Given the description of an element on the screen output the (x, y) to click on. 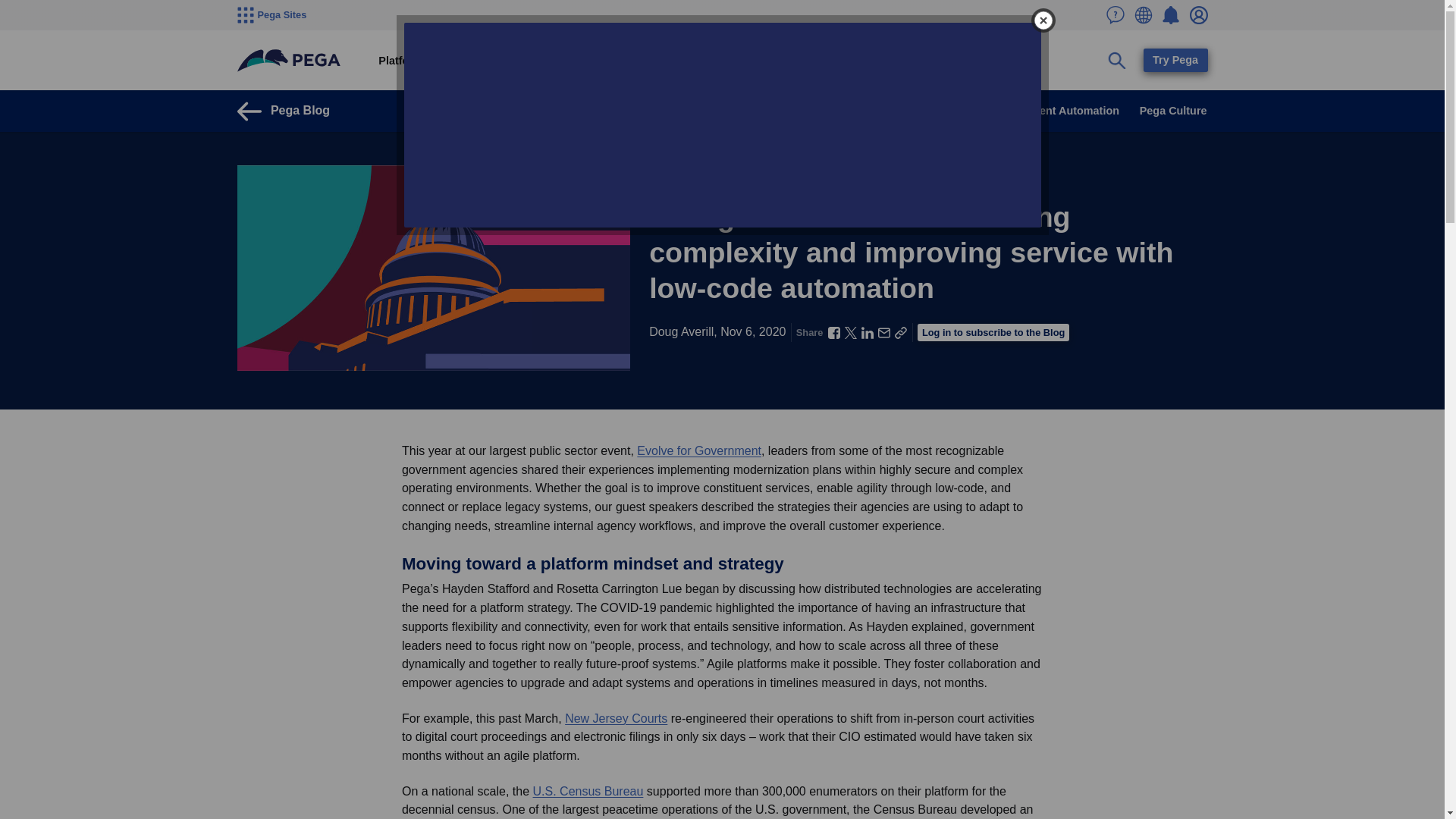
Toggle Search Panel (1117, 60)
Solutions (466, 60)
Platform (400, 60)
